Given the description of an element on the screen output the (x, y) to click on. 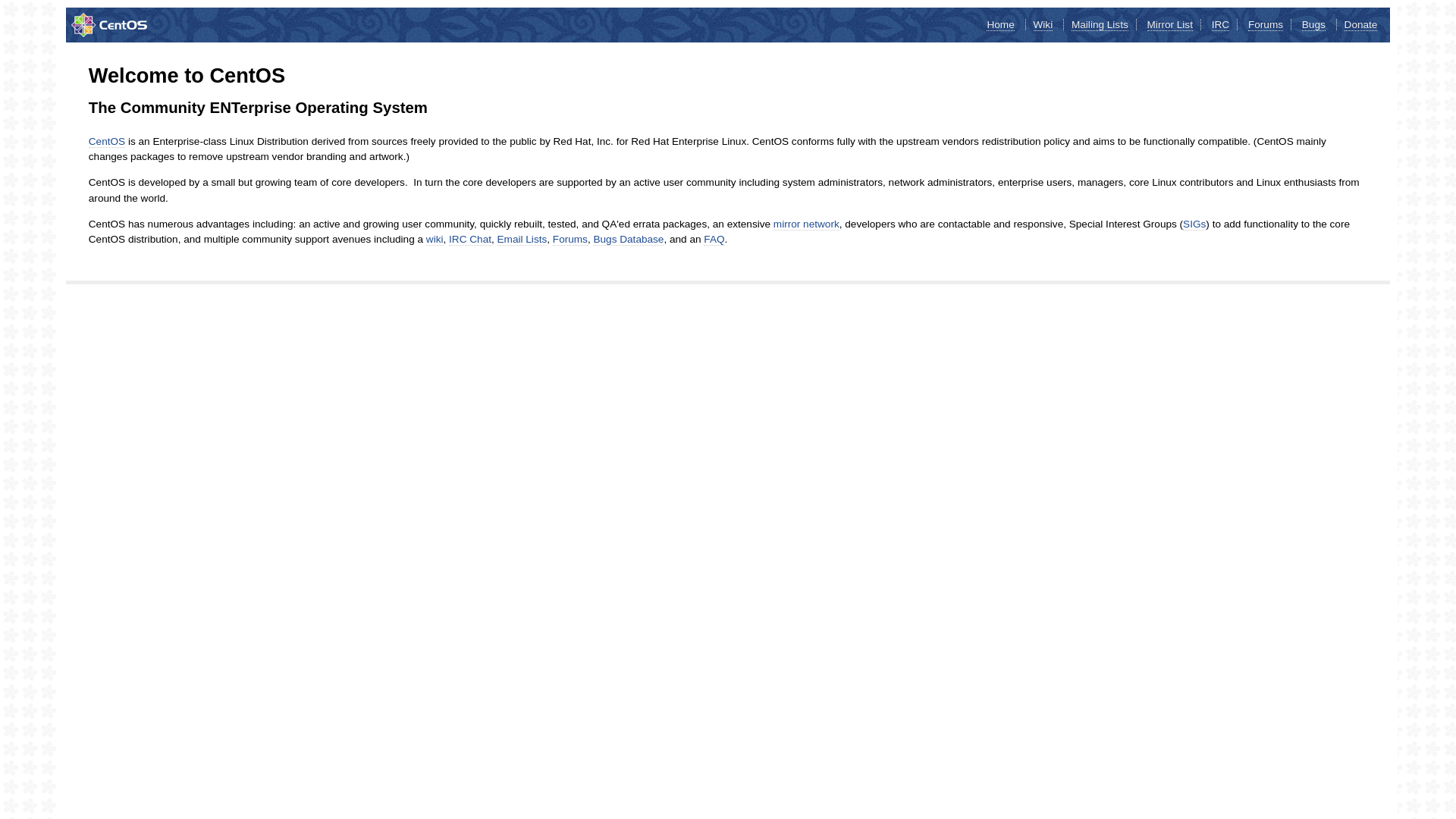
IRC Chat Element type: text (469, 239)
Bugs Database Element type: text (628, 239)
Forums Element type: text (569, 239)
Email Lists Element type: text (522, 239)
Forums Element type: text (1265, 24)
mirror network Element type: text (806, 224)
FAQ Element type: text (713, 239)
Home Element type: text (999, 24)
Mirror List Element type: text (1169, 24)
Bugs Element type: text (1313, 24)
Mailing Lists Element type: text (1099, 24)
CentOS Element type: text (106, 141)
wiki Element type: text (434, 239)
SIGs Element type: text (1194, 224)
Wiki Element type: text (1042, 24)
Donate Element type: text (1360, 24)
IRC Element type: text (1220, 24)
